Given the description of an element on the screen output the (x, y) to click on. 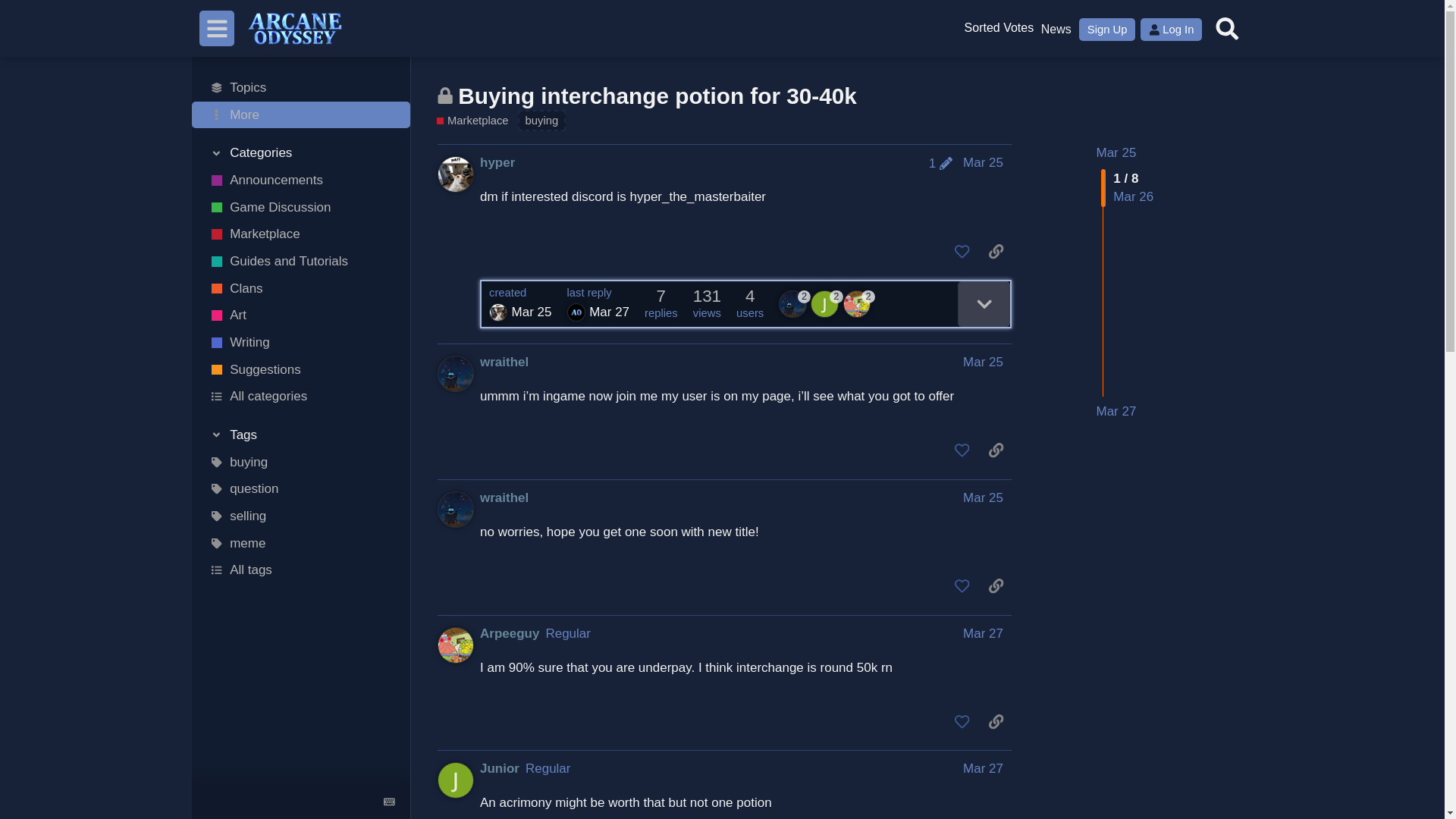
News (1056, 29)
Marketplace (472, 120)
Categories (301, 153)
News (1056, 29)
Marketplace (301, 234)
hyper (497, 162)
Sign Up (1106, 29)
All tags (301, 569)
Suggestions (301, 370)
Mar 27 (1116, 411)
Hide sidebar (216, 27)
Game Discussion (301, 207)
Suggestions (998, 28)
Toggle section (301, 153)
More (301, 114)
